Given the description of an element on the screen output the (x, y) to click on. 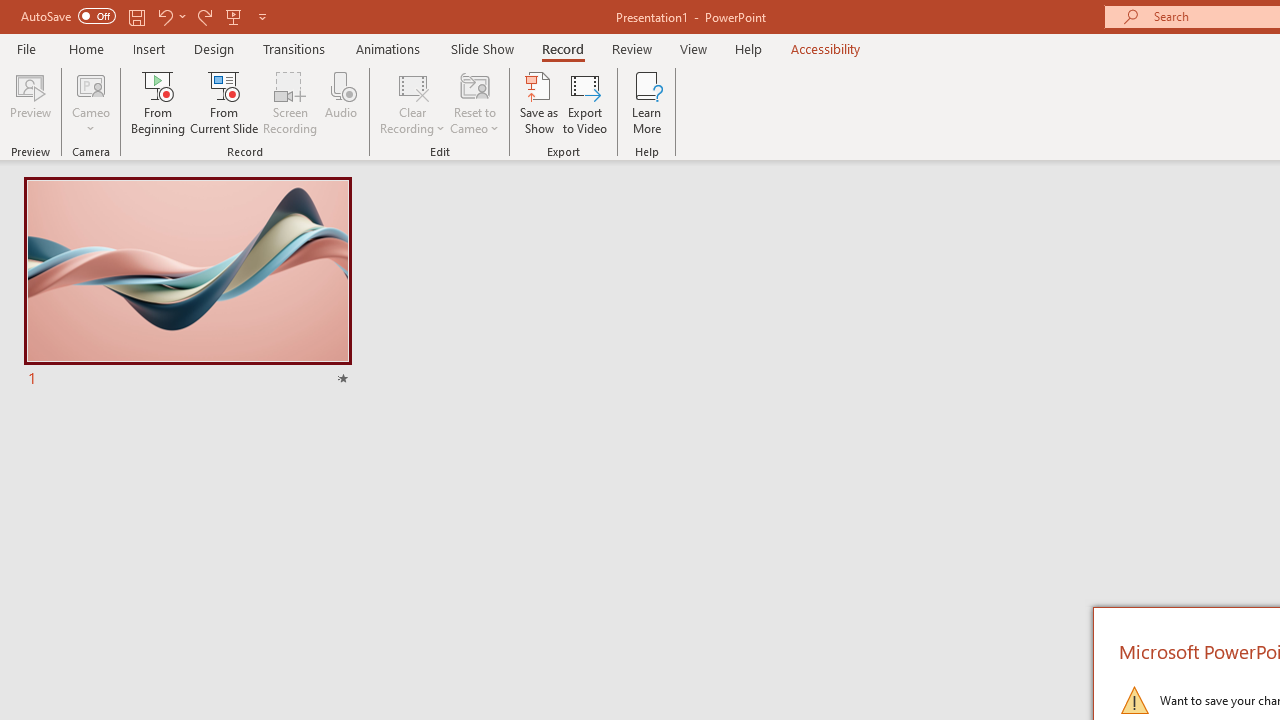
Export to Video (585, 102)
Warning Icon (1134, 699)
Audio (341, 102)
Clear Recording (412, 102)
Learn More (646, 102)
